Given the description of an element on the screen output the (x, y) to click on. 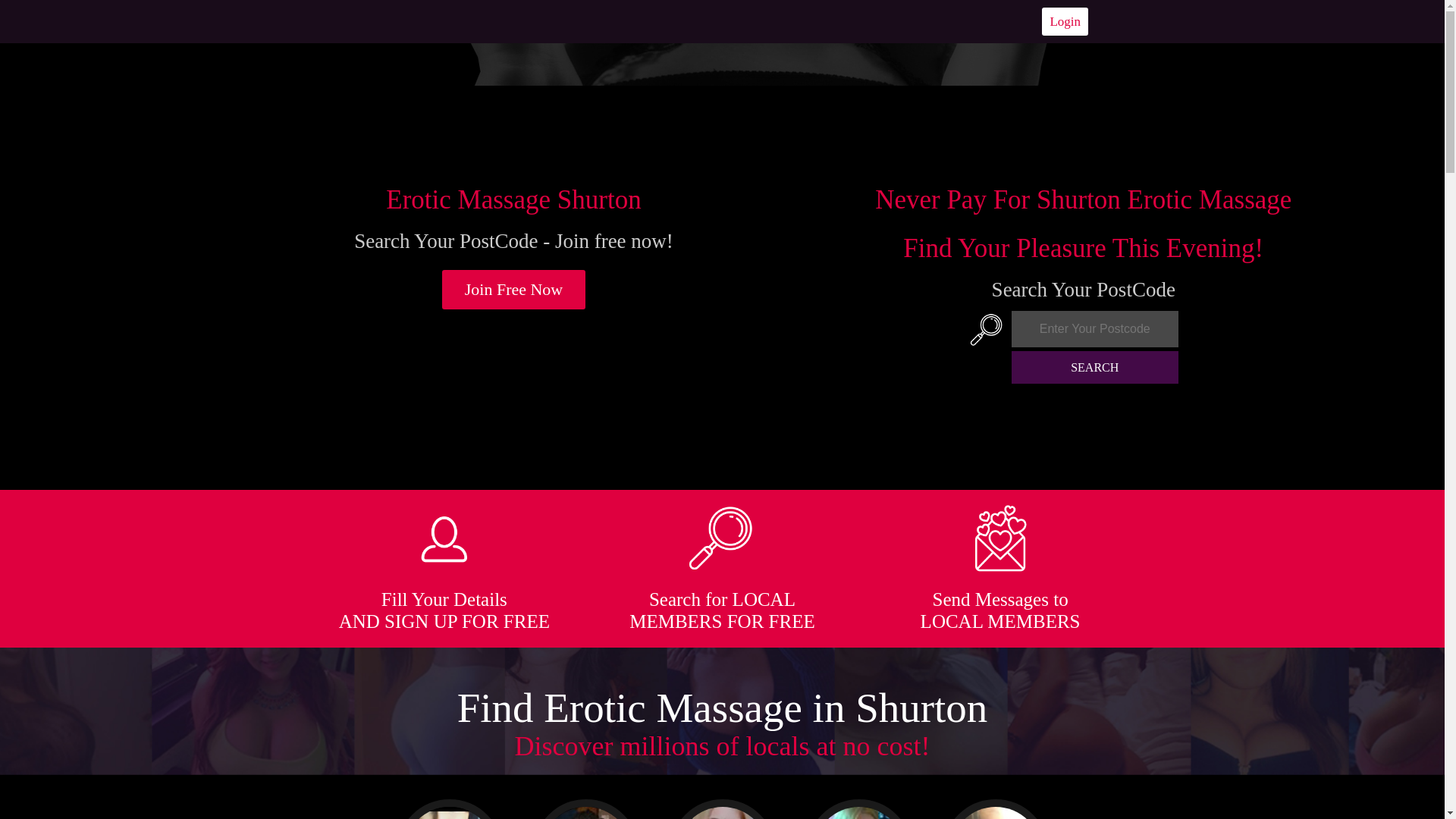
Login (1064, 21)
Join (514, 289)
SEARCH (1094, 367)
Join Free Now (514, 289)
Login (1064, 21)
